Given the description of an element on the screen output the (x, y) to click on. 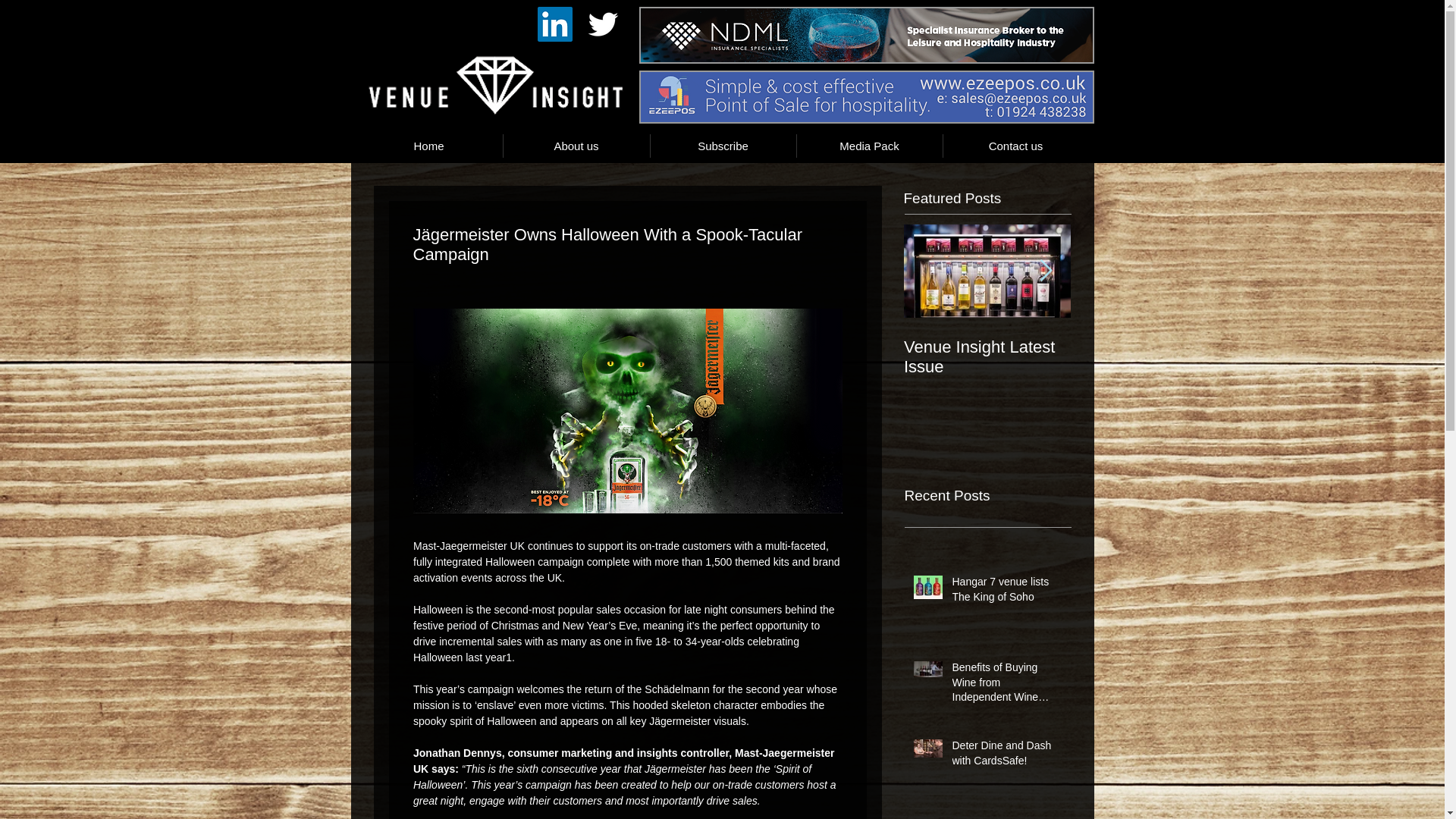
Media Pack (869, 146)
Venue Insight Latest Issue (987, 356)
Deter Dine and Dash with CardsSafe! (1006, 755)
Subscribe (723, 146)
Benefits of Buying Wine from Independent Wine Merchants (1006, 685)
Contact us (1016, 146)
Home (428, 146)
Hangar 7 venue lists The King of Soho (1006, 592)
About us (576, 146)
